Given the description of an element on the screen output the (x, y) to click on. 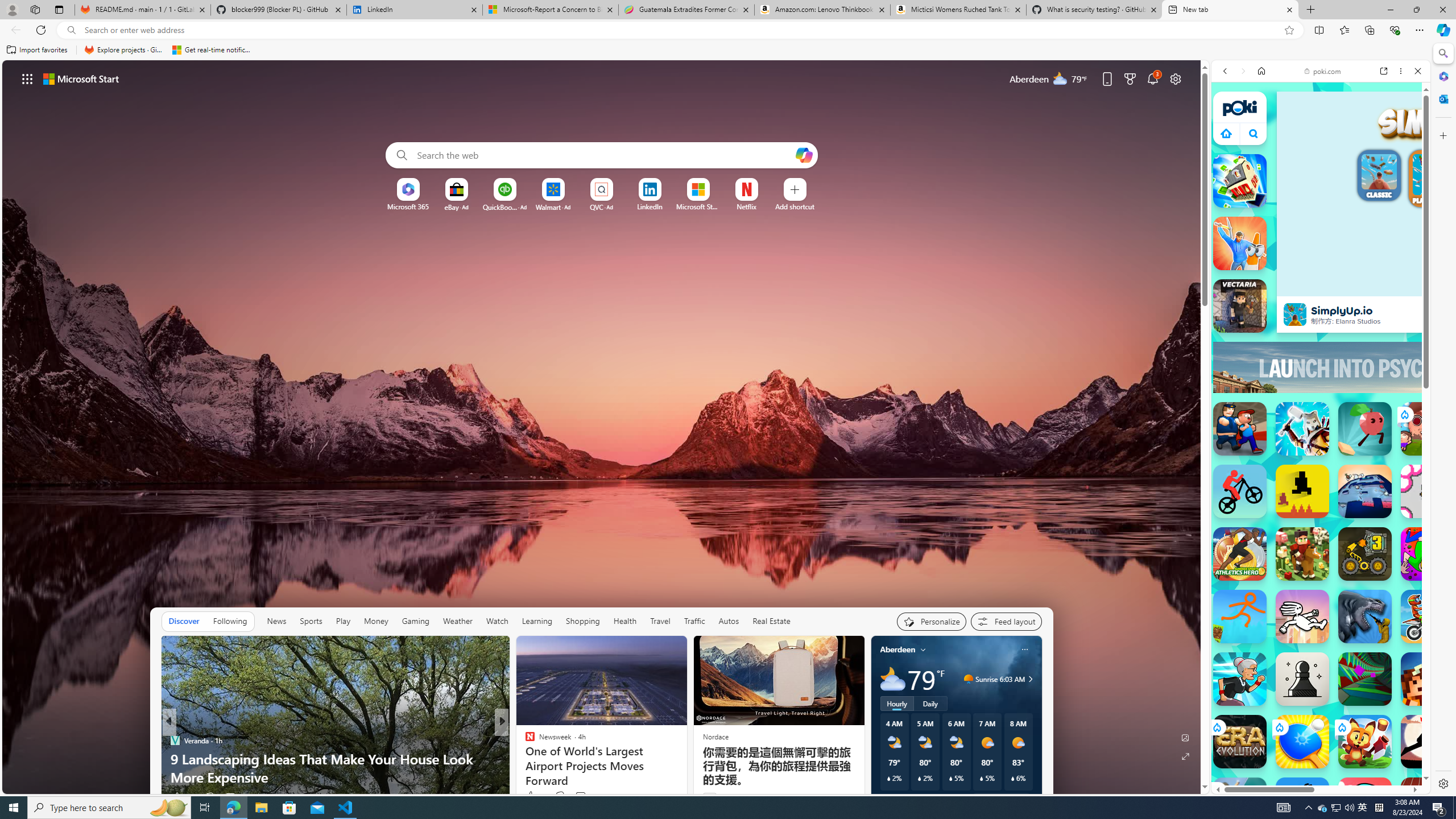
Ping Pong Go! Ping Pong Go! (1302, 741)
Into the Pit (1427, 491)
PLAYGROUND (1433, 180)
Hills of Steel (1253, 593)
793 Like (532, 796)
TravelPulse (524, 740)
162 Like (532, 796)
